Given the description of an element on the screen output the (x, y) to click on. 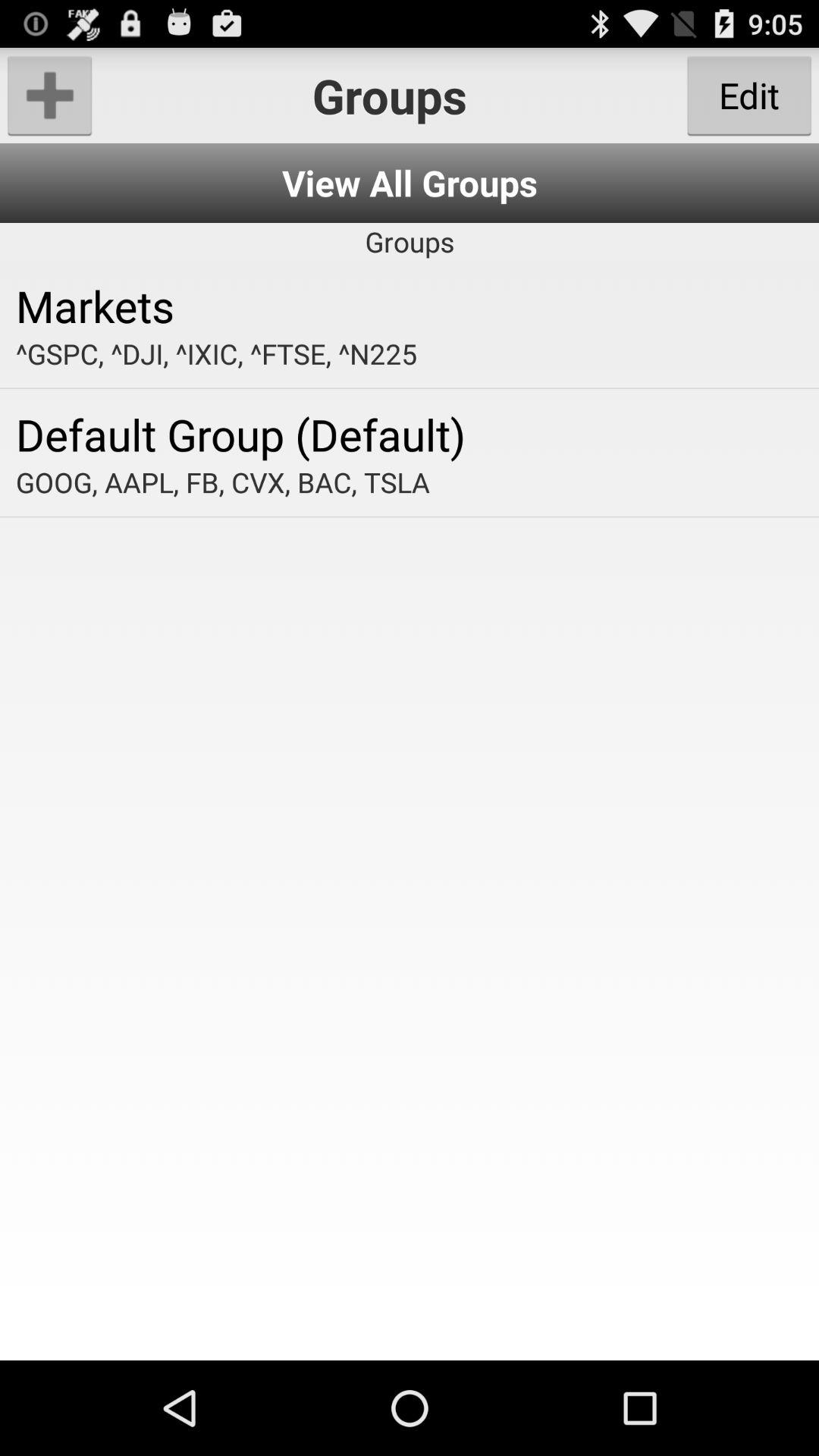
scroll until the gspc dji ixic icon (409, 353)
